Given the description of an element on the screen output the (x, y) to click on. 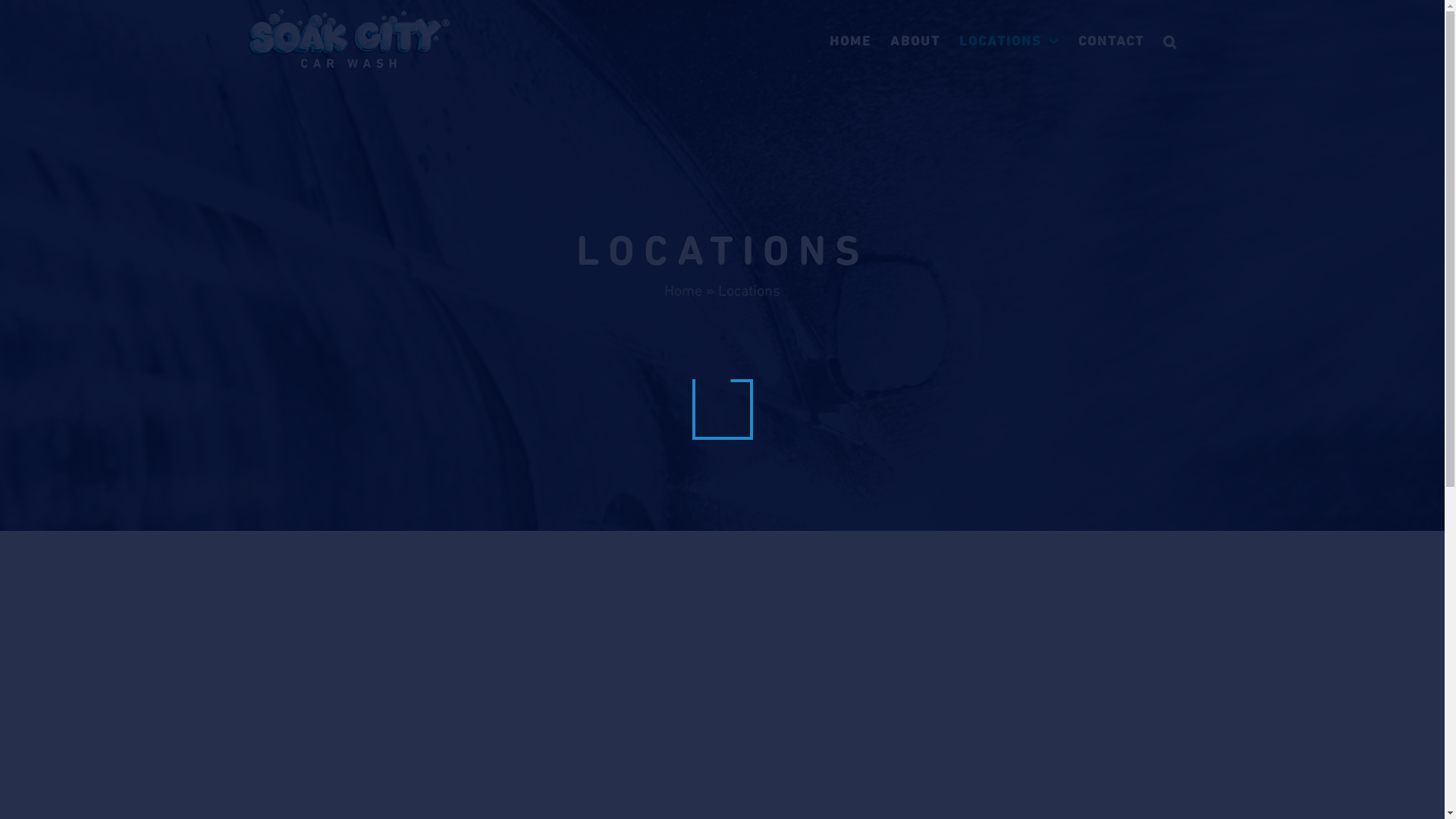
Search Element type: hover (1170, 41)
HOME Element type: text (850, 41)
ABOUT Element type: text (915, 41)
LOCATIONS Element type: text (1008, 41)
Home Element type: text (683, 290)
CONTACT Element type: text (1111, 41)
